Given the description of an element on the screen output the (x, y) to click on. 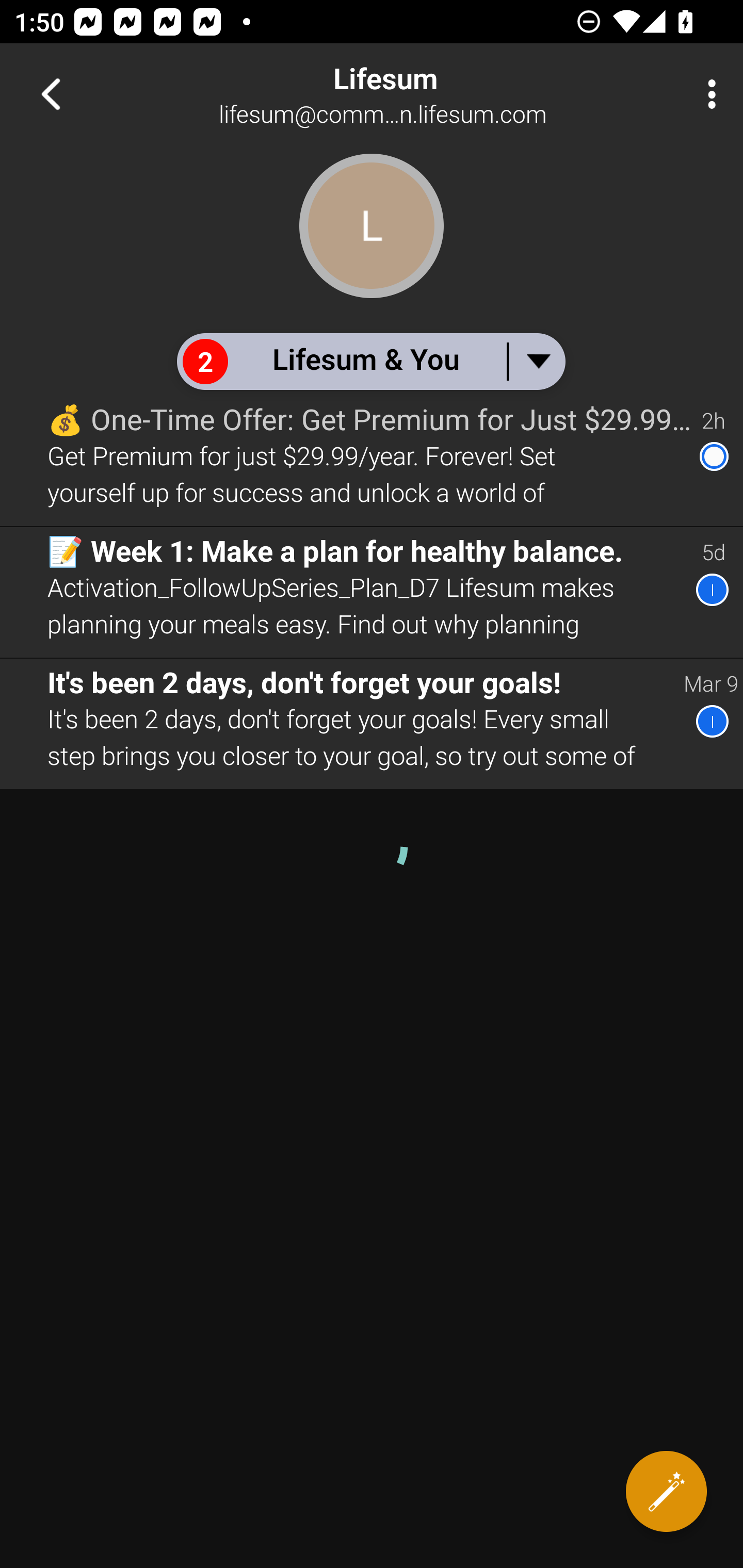
Navigate up (50, 93)
Lifesum lifesum@communication.lifesum.com (436, 93)
More Options (706, 93)
2 Lifesum & You (370, 361)
